Given the description of an element on the screen output the (x, y) to click on. 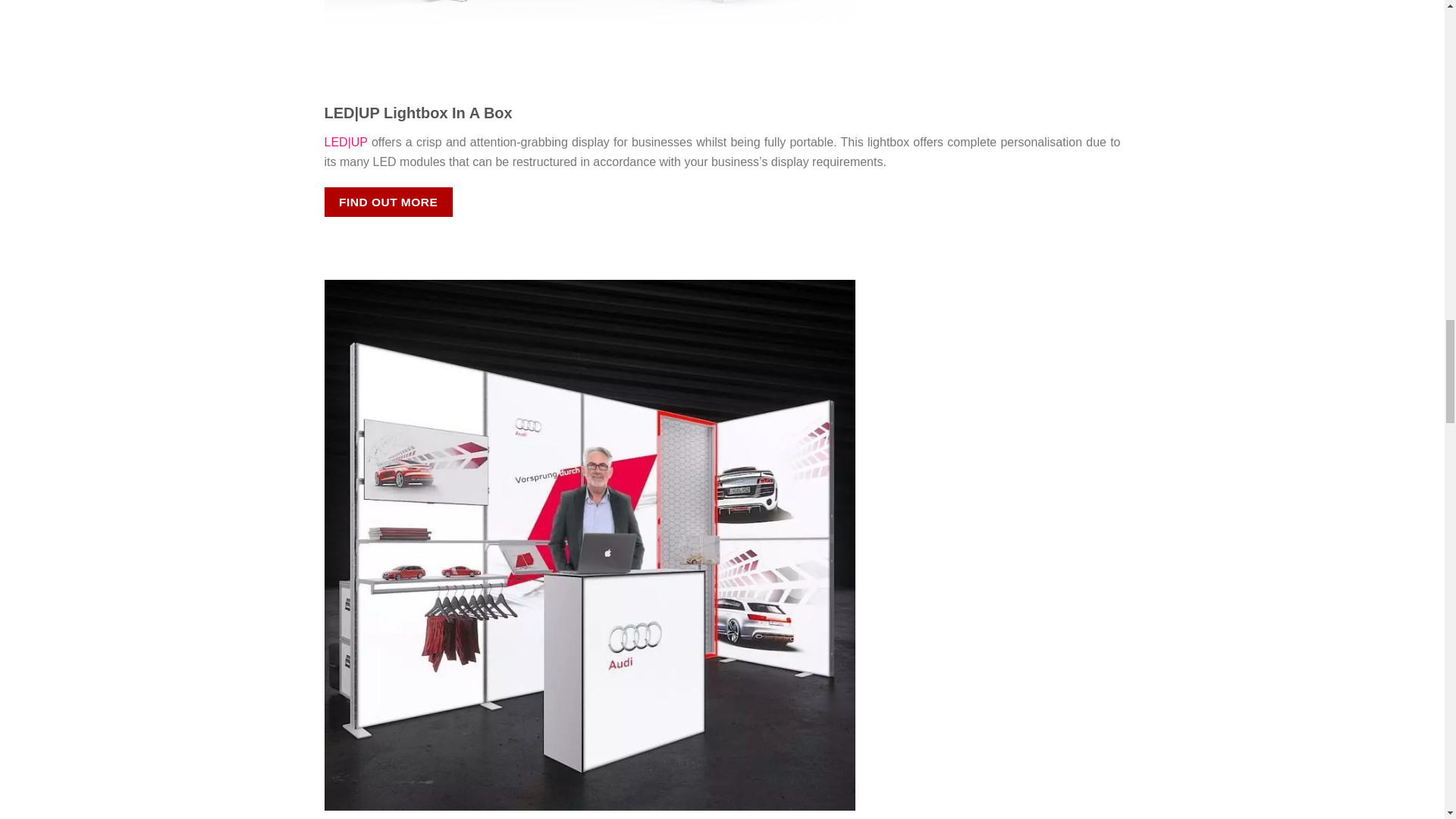
LEDUP parts (590, 30)
Lumin8 Pro Modular Illuminated Self Build Kit 13 (590, 543)
